Given the description of an element on the screen output the (x, y) to click on. 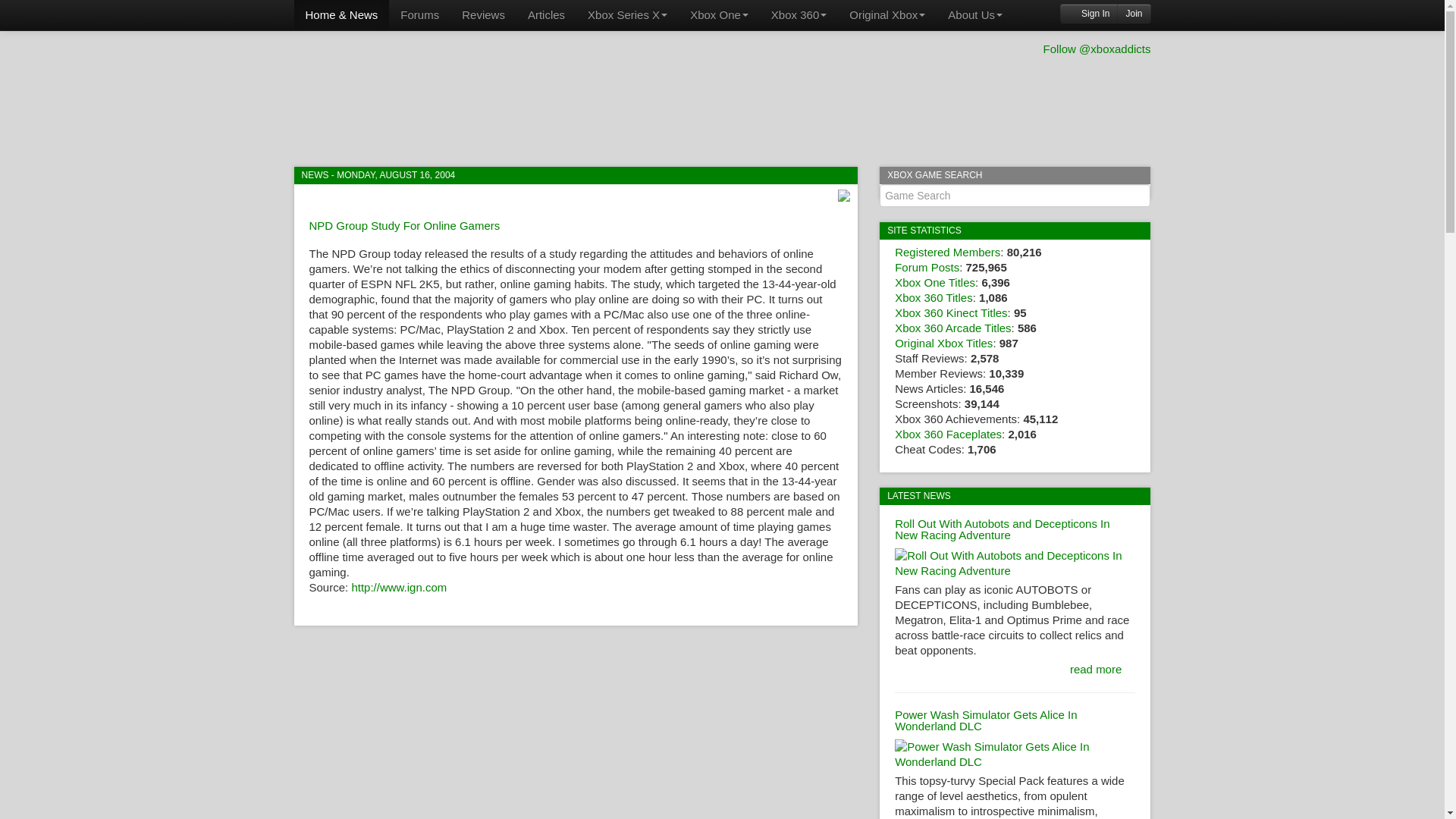
About Us (974, 15)
Xbox 360 (799, 15)
Reviews (482, 15)
Forums (418, 15)
Join (1133, 13)
Xbox One (719, 15)
Xbox Series X (627, 15)
Original Xbox (887, 15)
Sign In (1088, 13)
Articles (546, 15)
